Given the description of an element on the screen output the (x, y) to click on. 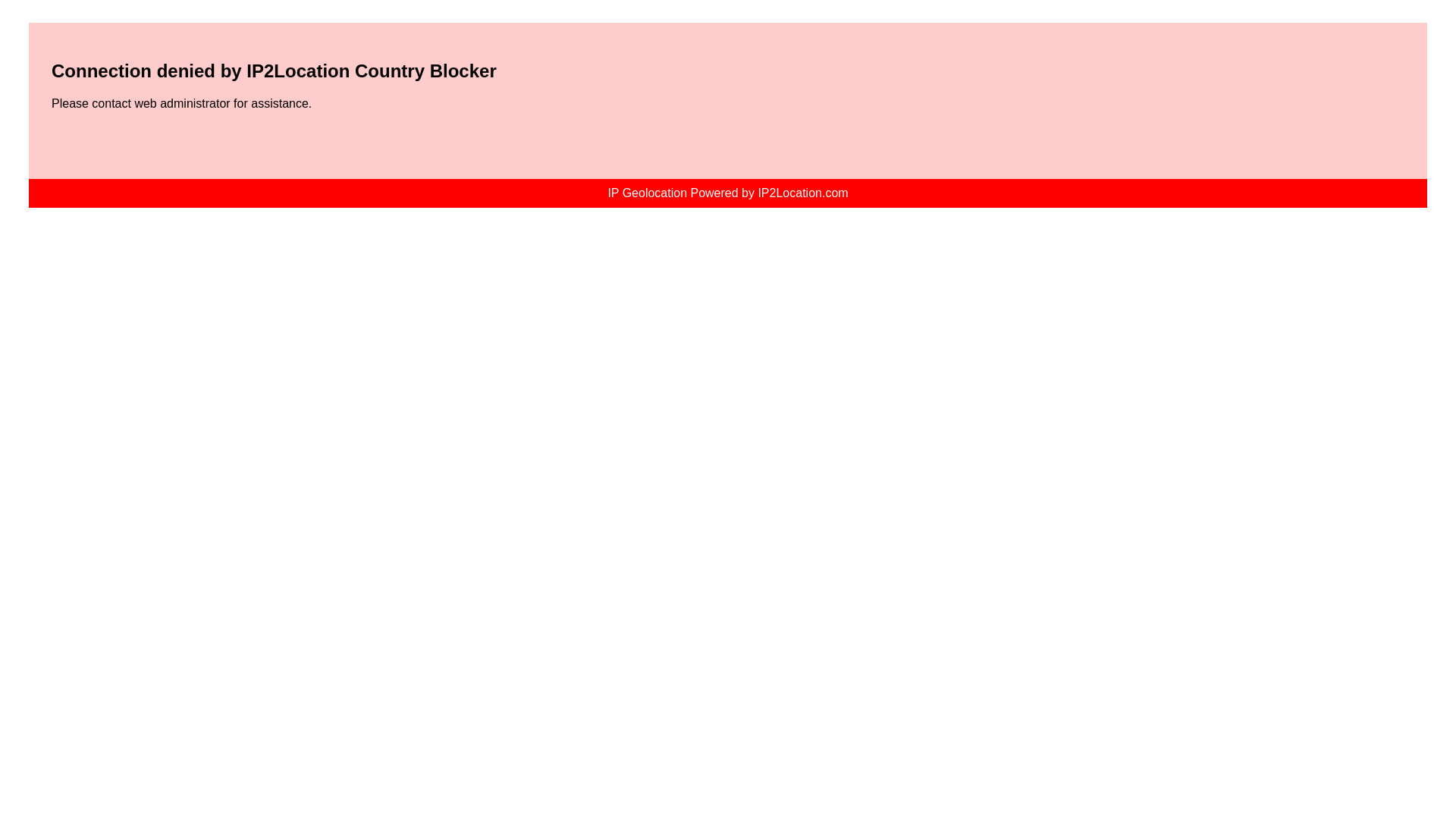
IP Geolocation Powered by IP2Location.com (727, 192)
